Given the description of an element on the screen output the (x, y) to click on. 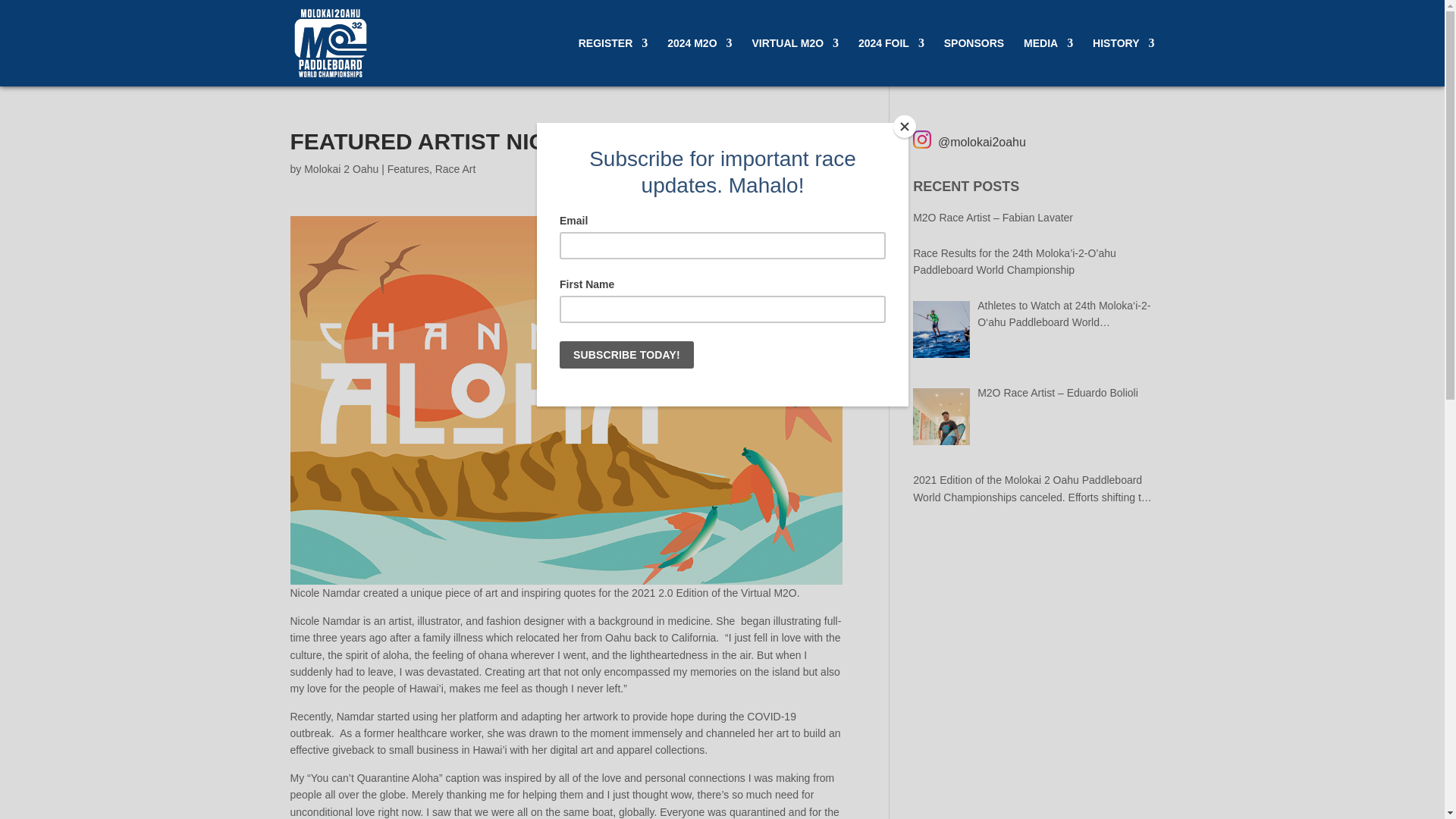
2024 M2O (699, 61)
REGISTER (612, 61)
VIRTUAL M2O (794, 61)
SPONSORS (973, 61)
MEDIA (1048, 61)
Posts by Molokai 2 Oahu (341, 168)
2024 FOIL (891, 61)
